Given the description of an element on the screen output the (x, y) to click on. 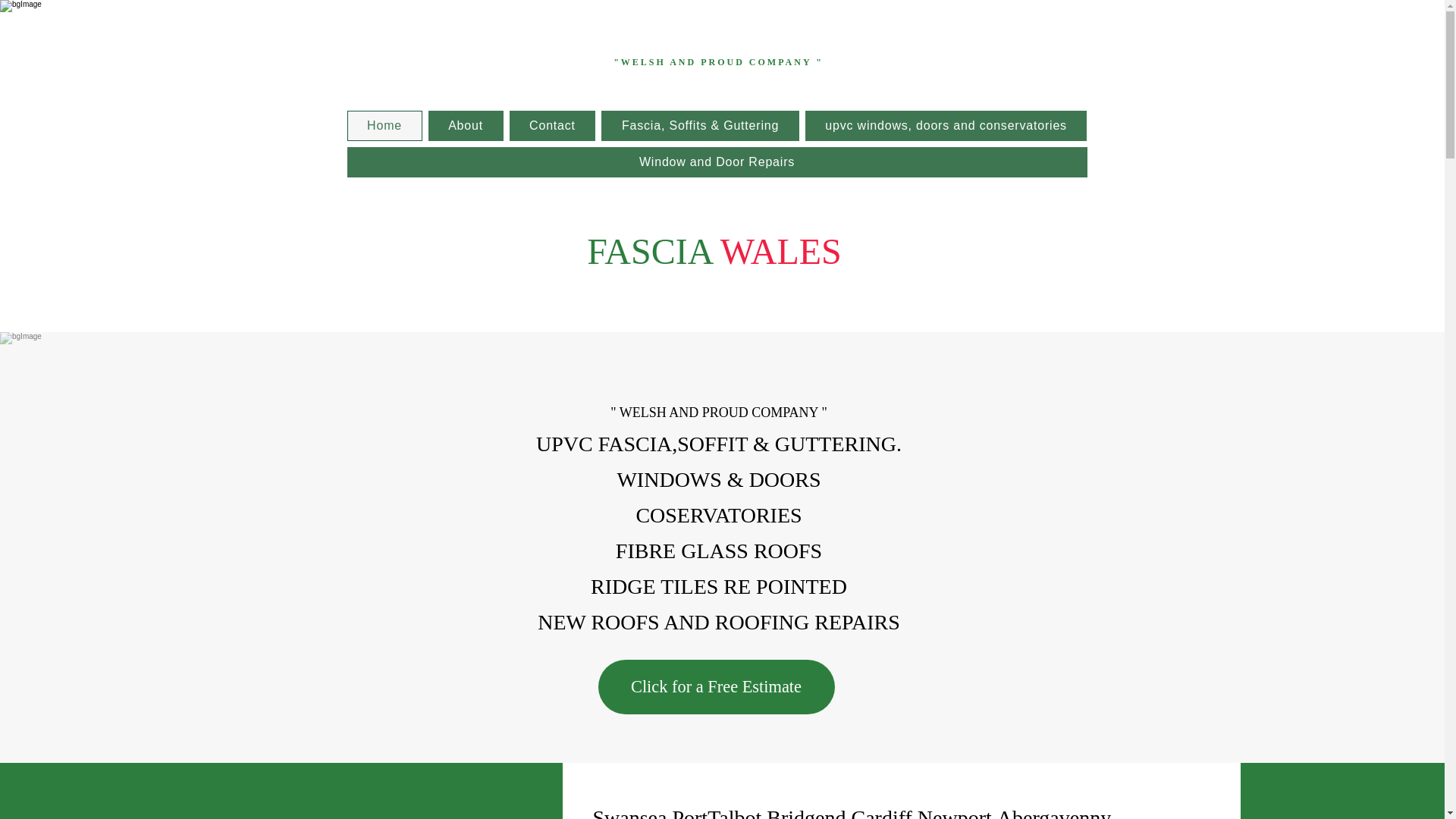
Window and Door Repairs (717, 162)
Contact (552, 125)
Home (384, 125)
About (465, 125)
"WELSH AND PROUD COMPANY " (718, 62)
upvc windows, doors and conservatories (946, 125)
Click for a Free Estimate (715, 687)
